Given the description of an element on the screen output the (x, y) to click on. 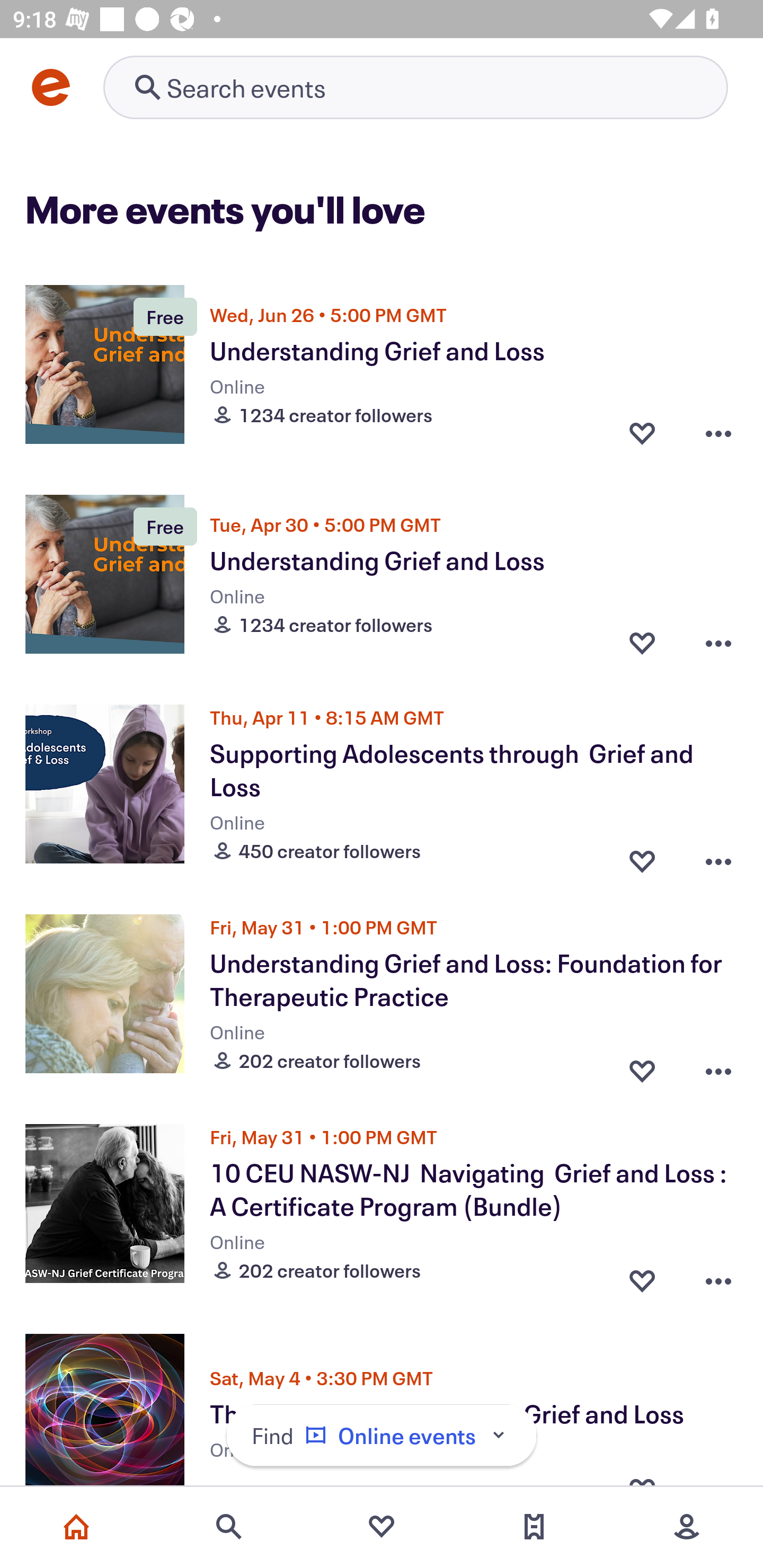
Retry's image Search events (415, 86)
Favorite button (642, 431)
Overflow menu button (718, 431)
Favorite button (642, 641)
Overflow menu button (718, 641)
Favorite button (642, 856)
Overflow menu button (718, 856)
Favorite button (642, 1066)
Overflow menu button (718, 1066)
Favorite button (642, 1275)
Overflow menu button (718, 1275)
Find Online events (381, 1435)
Home (76, 1526)
Search events (228, 1526)
Favorites (381, 1526)
Tickets (533, 1526)
More (686, 1526)
